Given the description of an element on the screen output the (x, y) to click on. 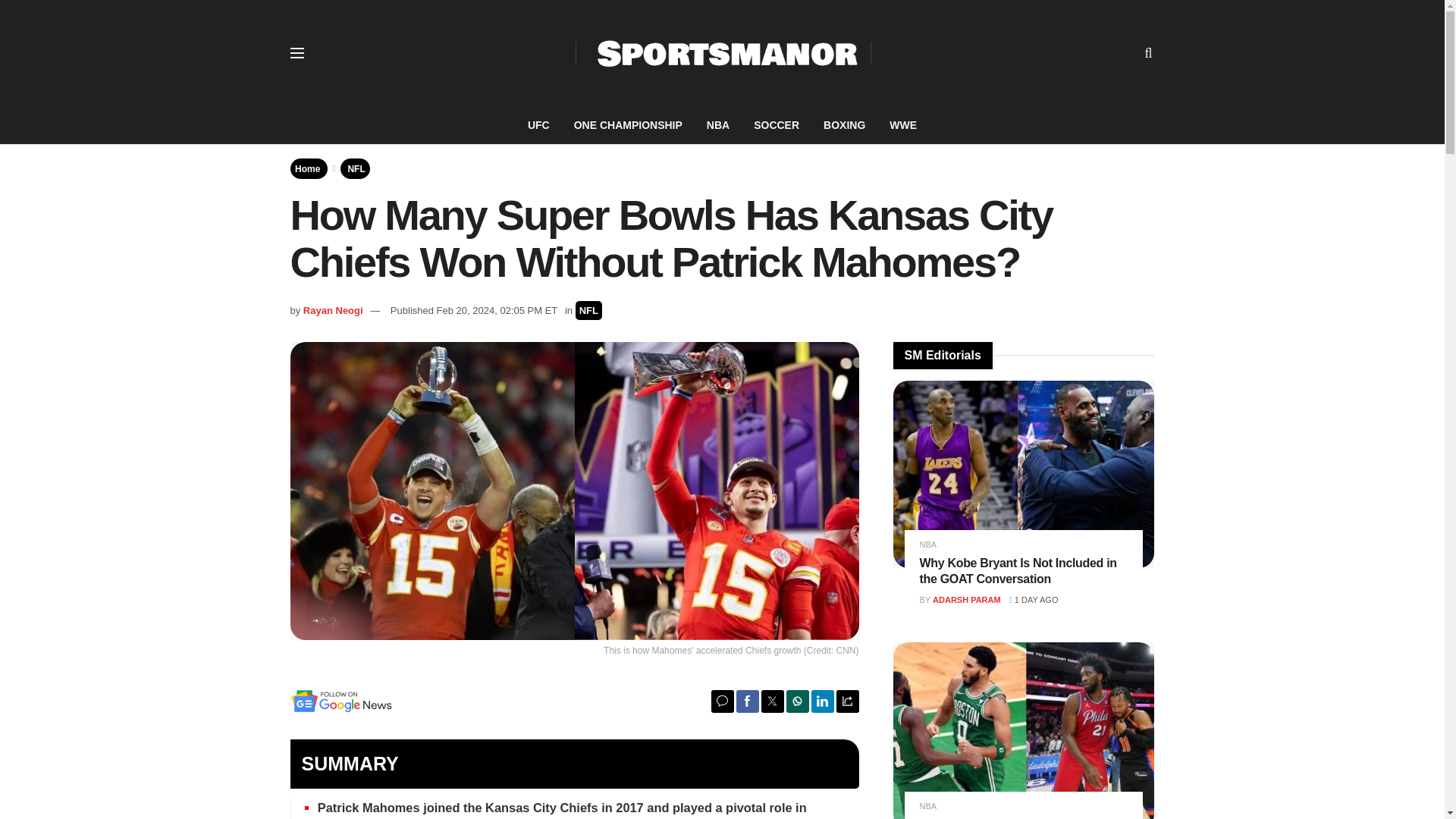
NFL (588, 310)
BOXING (843, 125)
Why Kobe Bryant Is Not Included in the GOAT Conversation 12 (1023, 474)
SOCCER (775, 125)
Home (307, 167)
WWE (902, 125)
NFL (356, 167)
NBA (717, 125)
Published Feb 20, 2024, 02:05 PM ET (473, 310)
UFC (538, 125)
ONE CHAMPIONSHIP (628, 125)
Rayan Neogi (332, 310)
